Given the description of an element on the screen output the (x, y) to click on. 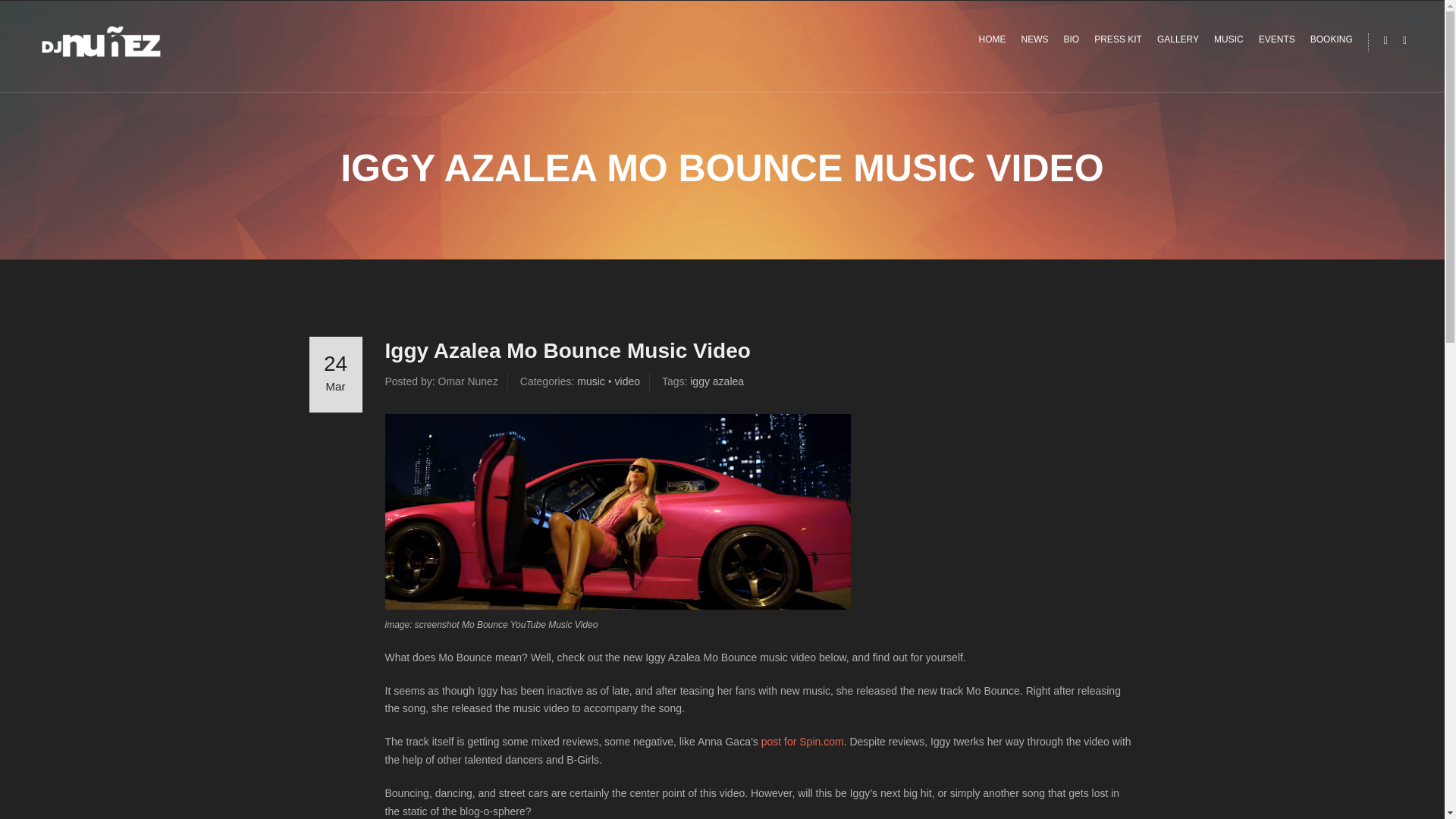
music (590, 381)
iggy azalea (717, 381)
GALLERY (1178, 39)
video (627, 381)
BOOKING (1331, 39)
post for Spin.com (802, 741)
PRESS KIT (1118, 39)
EVENTS (1276, 39)
MUSIC (1228, 39)
